Given the description of an element on the screen output the (x, y) to click on. 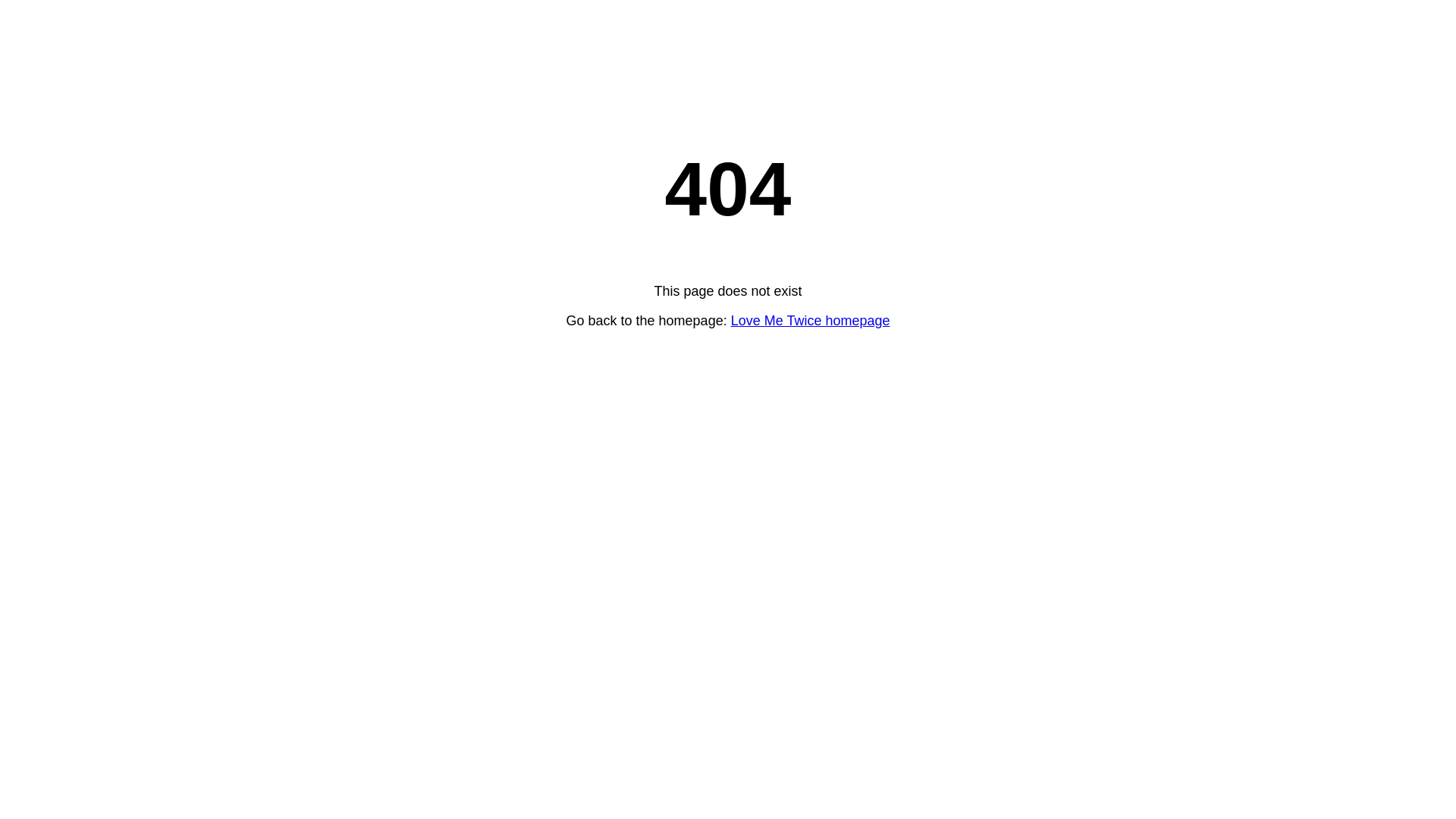
Love Me Twice homepage Element type: text (810, 320)
